Given the description of an element on the screen output the (x, y) to click on. 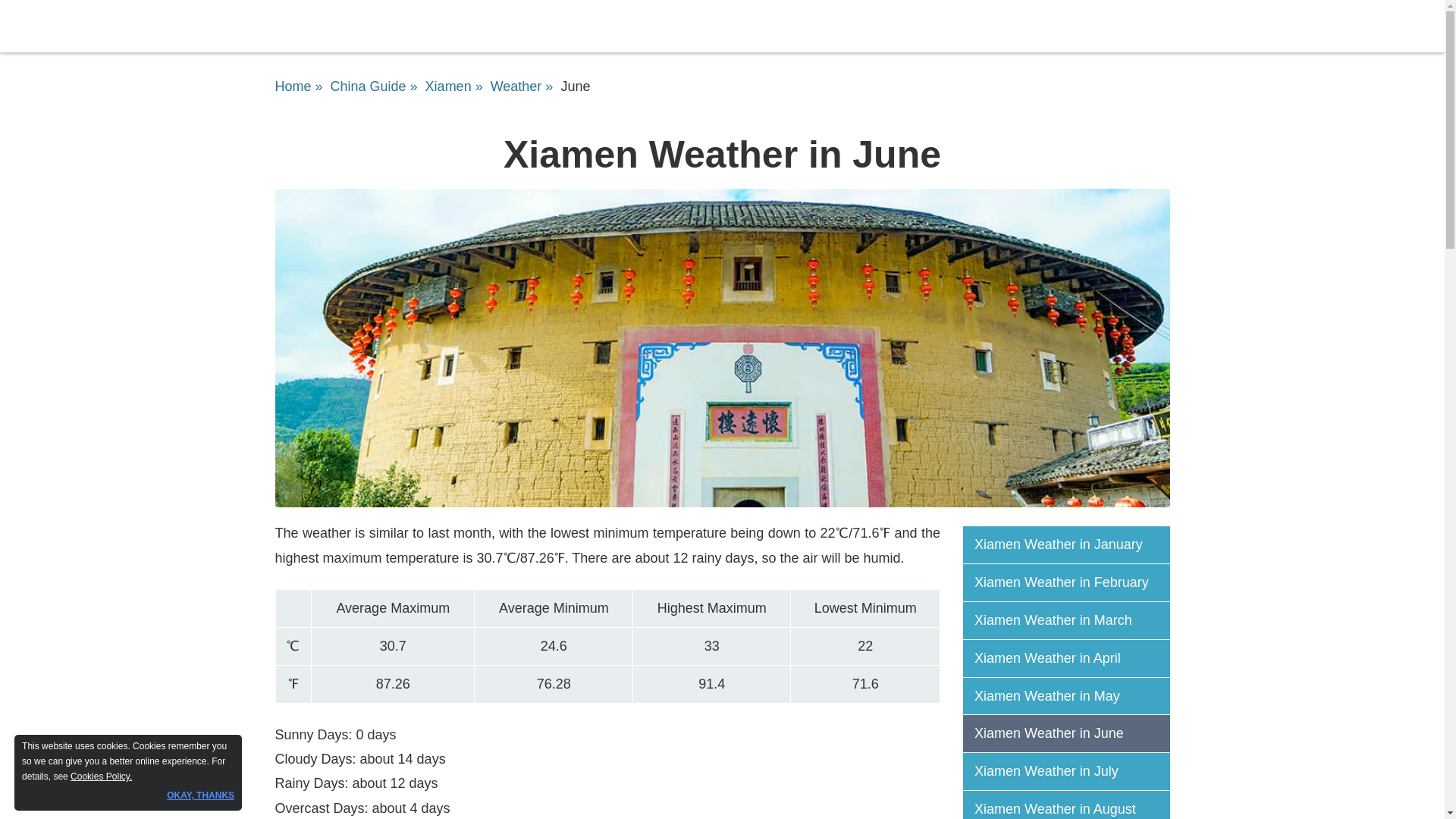
Xiamen Weather in April (1072, 658)
Xiamen Weather in March (1072, 620)
Xiamen Weather in January (1072, 544)
Xiamen Weather in July (1072, 771)
Xiamen Weather in February (1072, 582)
Xiamen Weather in June (1072, 733)
Cookies Policy. (100, 776)
Xiamen Weather in May (1072, 696)
OKAY, THANKS (200, 795)
Xiamen Weather in August (1072, 808)
